Given the description of an element on the screen output the (x, y) to click on. 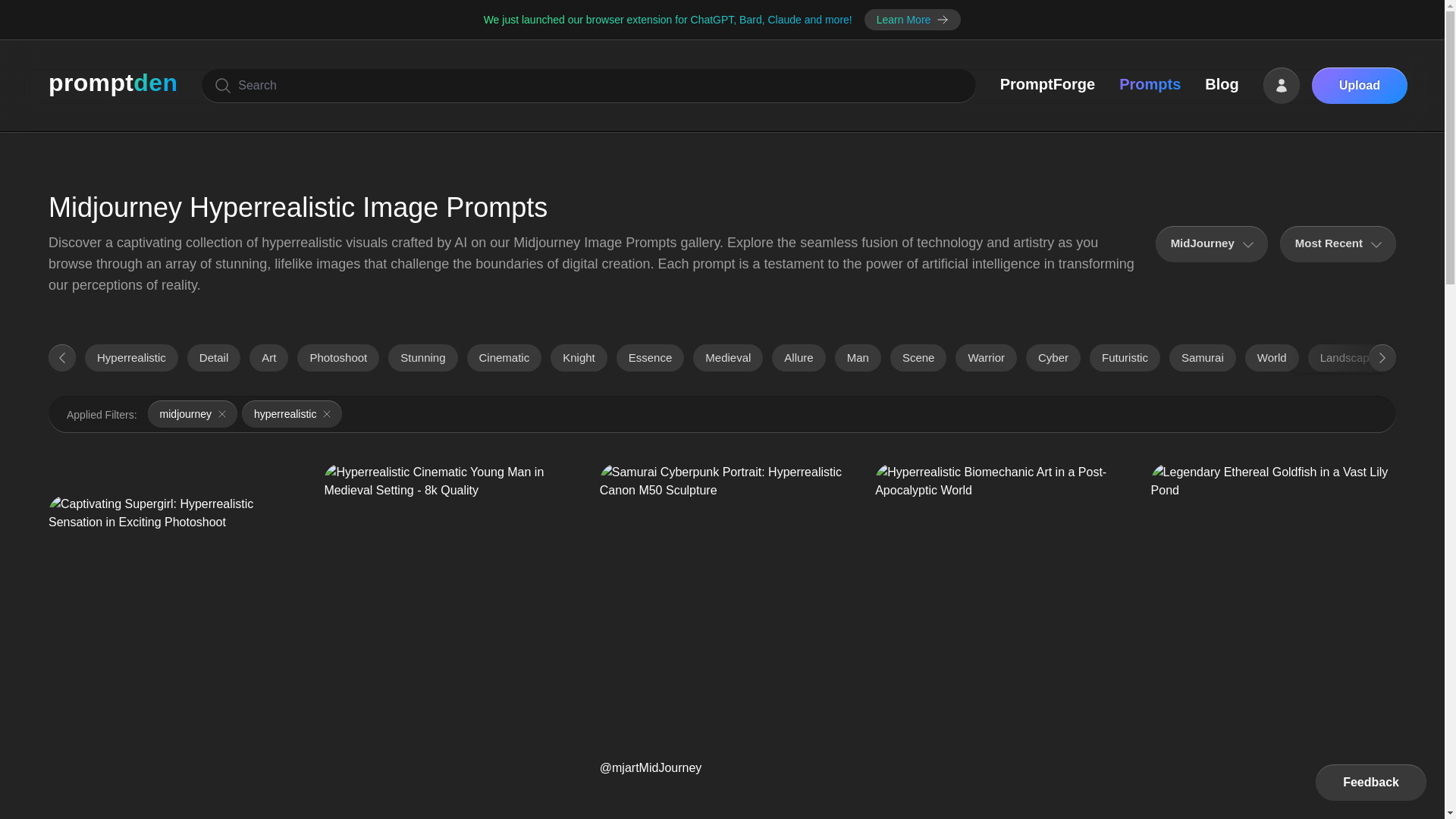
Knight (578, 357)
Cyber (1053, 357)
Cinematic (504, 357)
Stunning (422, 357)
Man (857, 357)
Upload (1359, 85)
World (1271, 357)
Allure (798, 357)
Essence (649, 357)
Samurai (1202, 357)
